Given the description of an element on the screen output the (x, y) to click on. 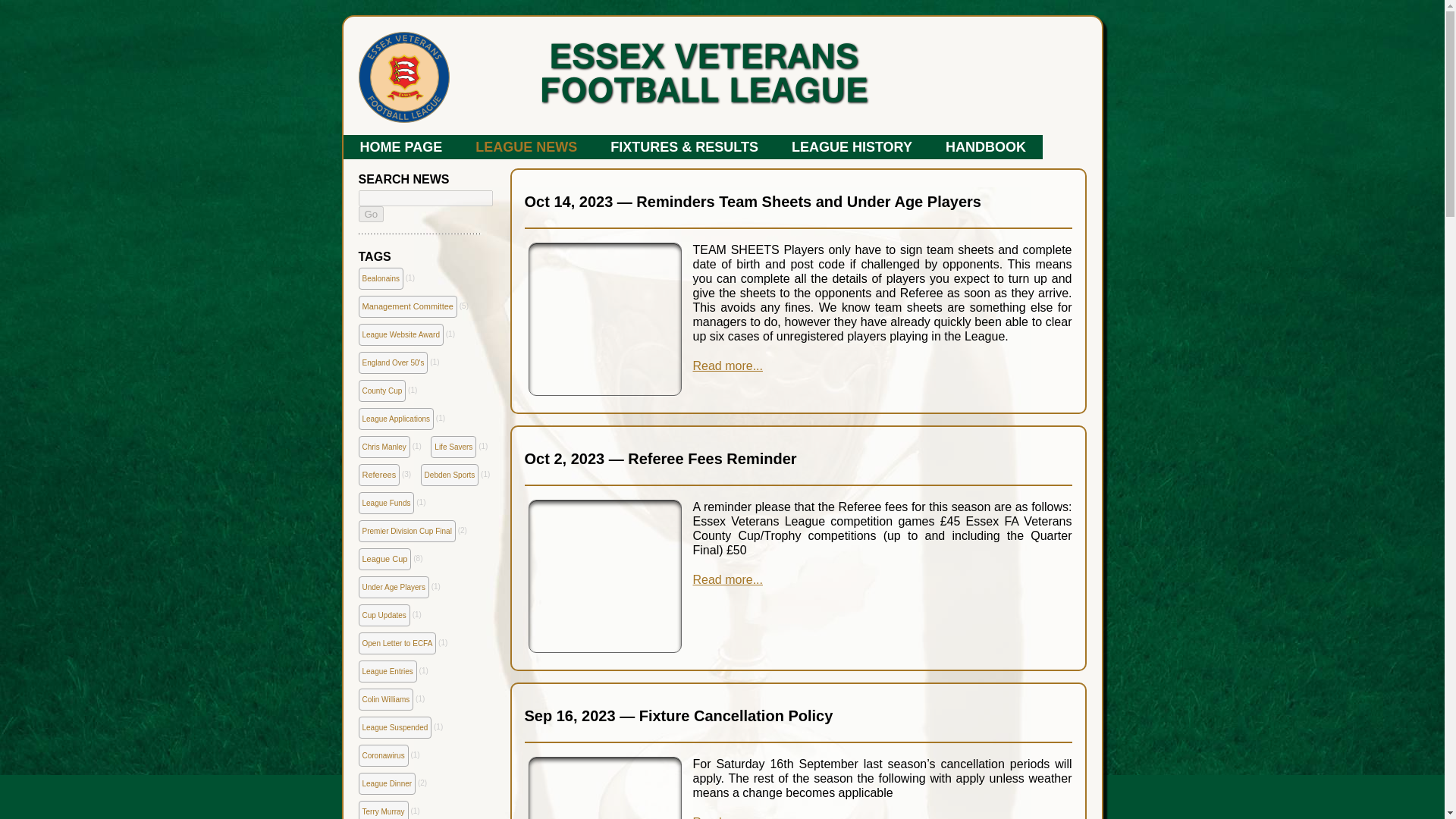
Go (371, 213)
Debden Sports (449, 475)
Go (371, 213)
League Entries (387, 671)
Go (371, 213)
Coronawirus (382, 755)
League Suspended (394, 727)
Colin Williams (385, 699)
Cup Updates (383, 615)
League Cup (384, 558)
Premier Division Cup Final (406, 531)
County Cup (382, 391)
Life Savers (453, 446)
Open Letter to ECFA (396, 643)
Management Committee (407, 306)
